Given the description of an element on the screen output the (x, y) to click on. 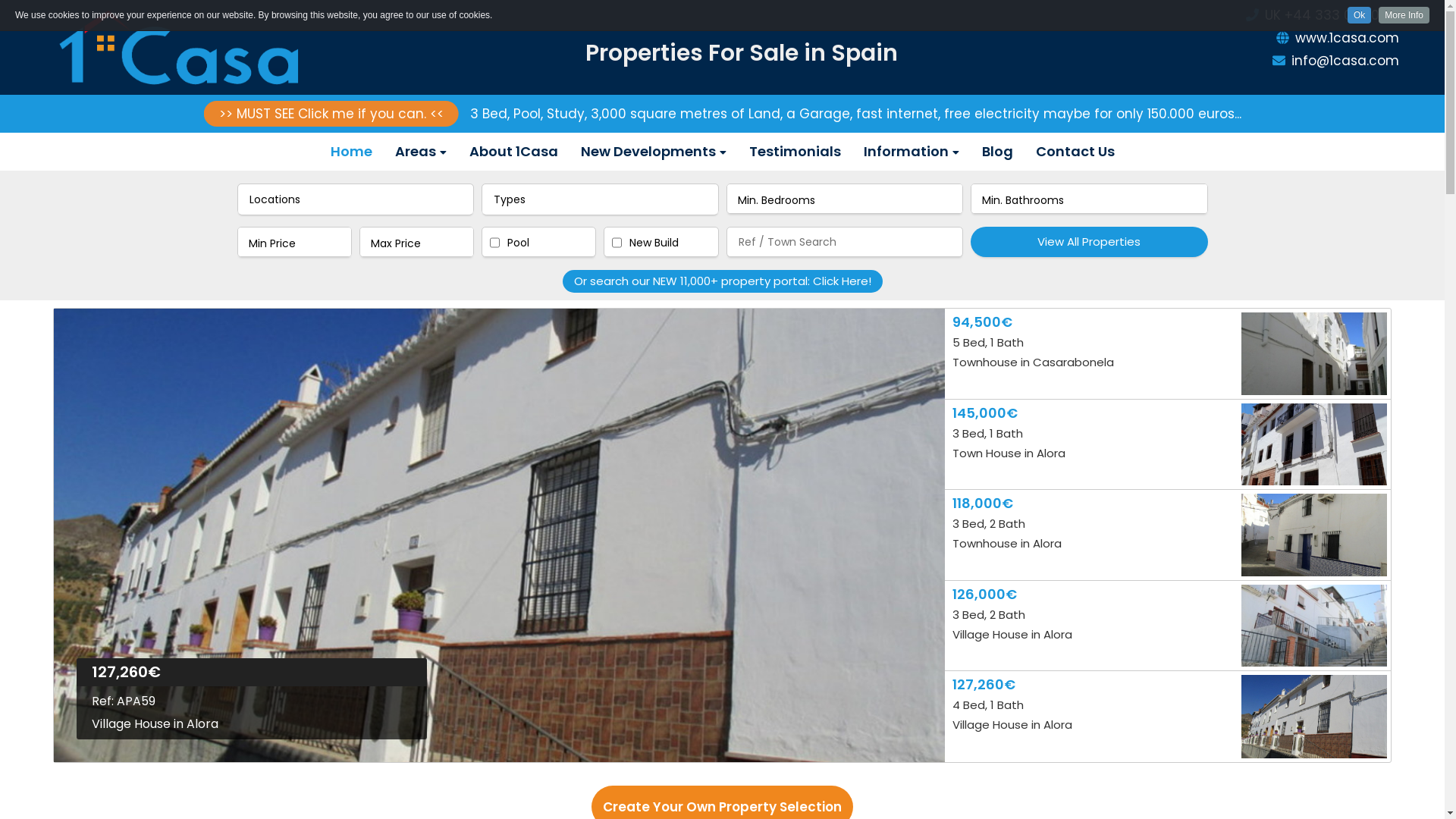
Testimonials Element type: text (794, 151)
View All Properties Element type: text (1089, 241)
Contact Us Element type: text (1074, 151)
Or search our NEW 11,000+ property portal: Click Here! Element type: text (722, 280)
Blog Element type: text (997, 151)
More Info Element type: text (1403, 14)
info@1casa.com Element type: text (1277, 60)
Home Element type: text (350, 151)
1Casa | Property For Sale in Spain Element type: hover (185, 49)
Information Element type: text (911, 151)
New Developments Element type: text (652, 151)
About 1Casa Element type: text (513, 151)
Areas Element type: text (420, 151)
Ok Element type: text (1359, 14)
